Given the description of an element on the screen output the (x, y) to click on. 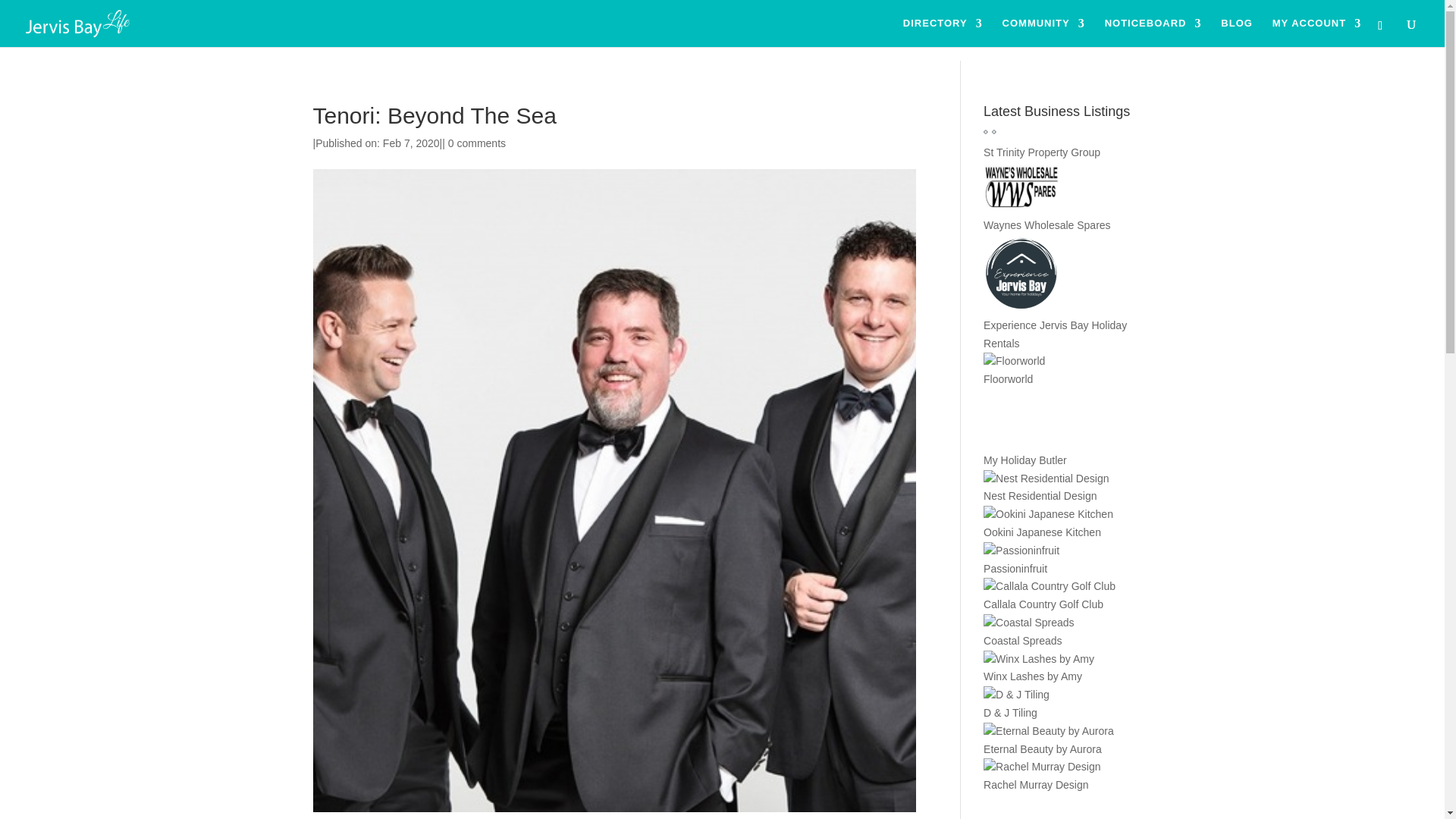
Passioninfruit (1015, 568)
0 comments (476, 143)
DIRECTORY (942, 32)
Experience Jervis Bay Holiday Rentals (1055, 334)
Winx Lashes by Amy (1032, 676)
Eternal Beauty by Aurora (1043, 748)
Floorworld (1008, 378)
St Trinity Property Group (1042, 152)
COMMUNITY (1043, 32)
Nest Residential Design (1040, 495)
